Given the description of an element on the screen output the (x, y) to click on. 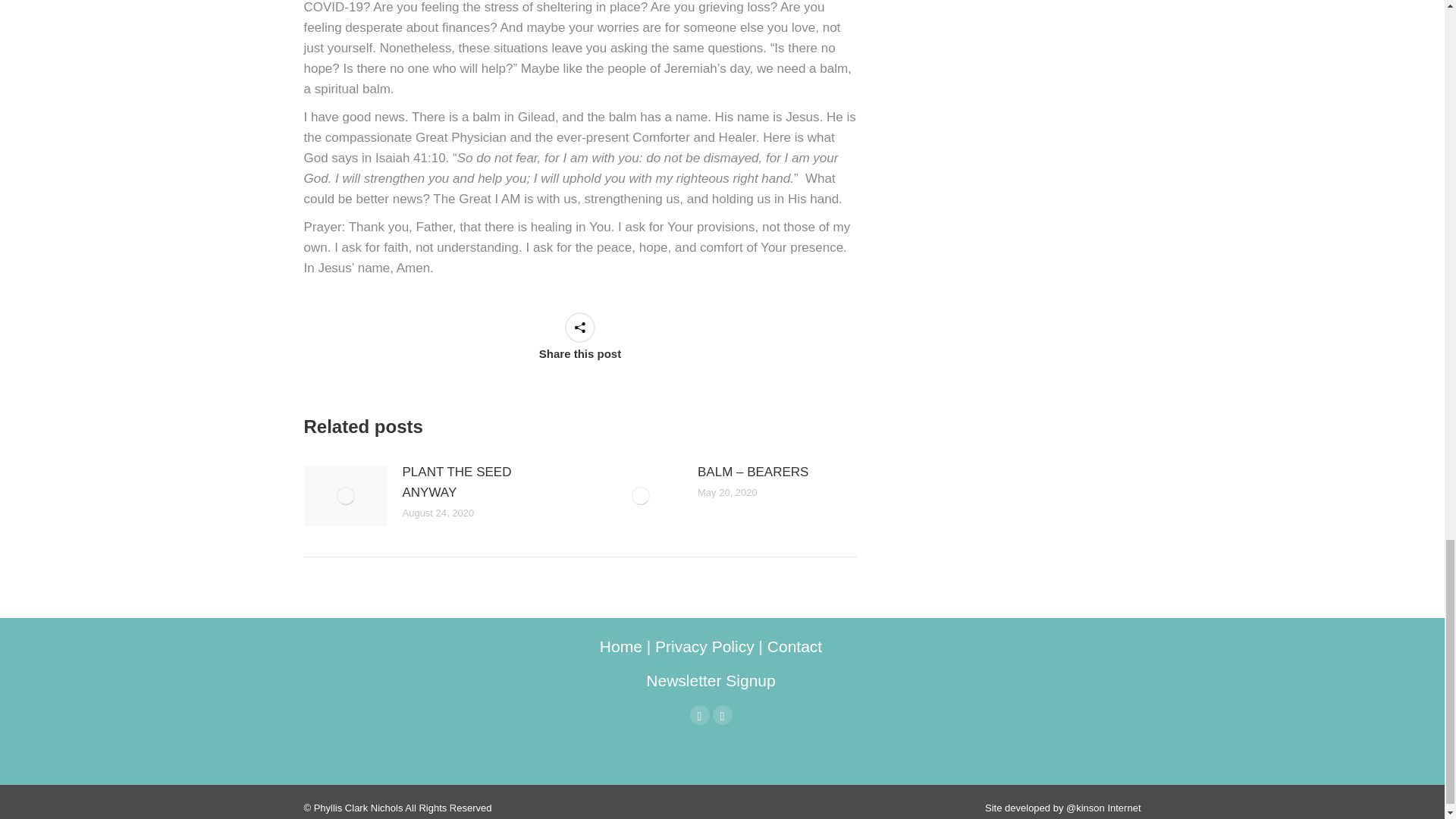
Facebook page opens in new window (700, 714)
X page opens in new window (722, 714)
